Given the description of an element on the screen output the (x, y) to click on. 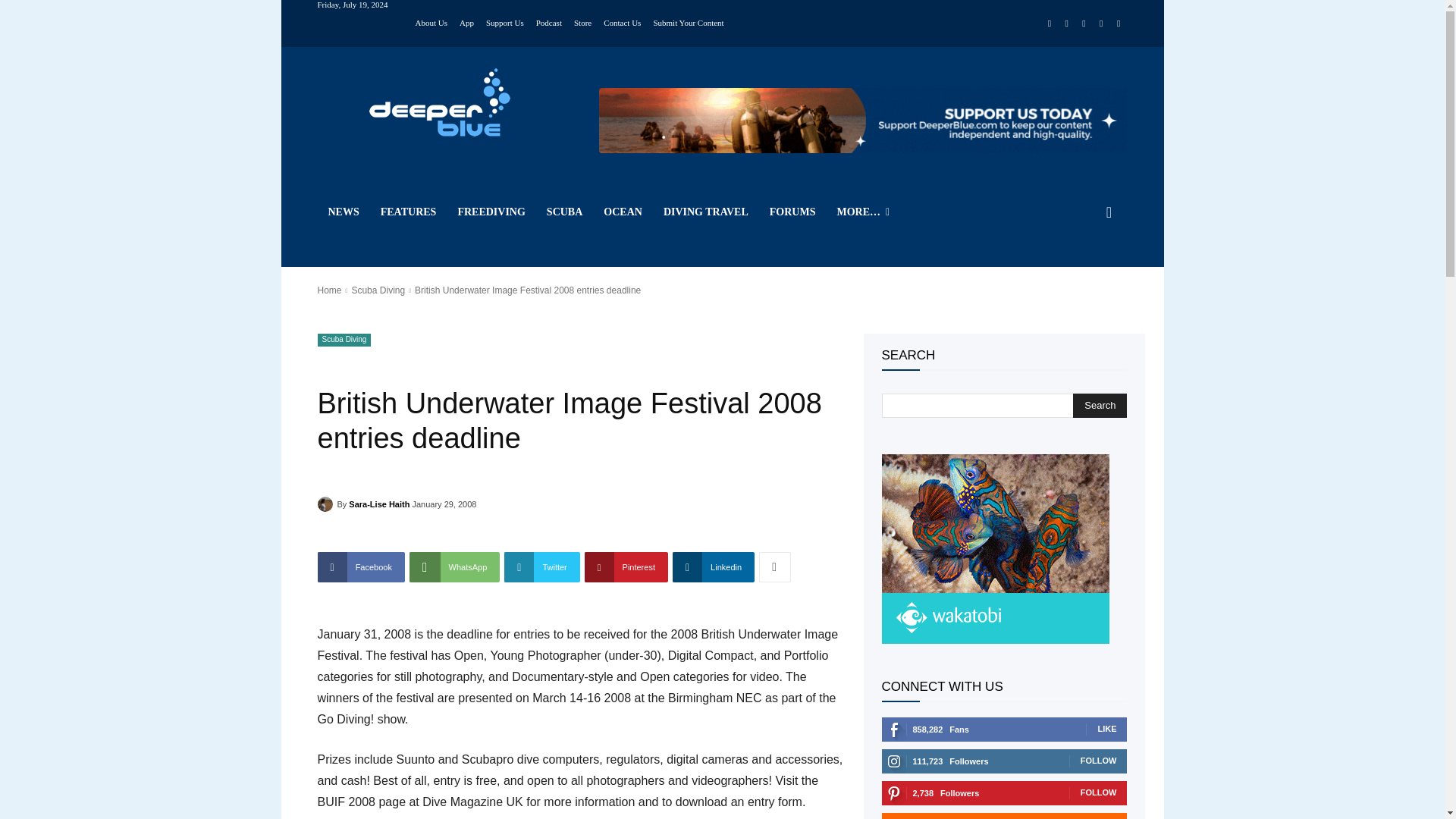
RSS (1084, 23)
About Us (430, 22)
Instagram (1066, 23)
Store (582, 22)
Contact Us (622, 22)
Podcast (548, 22)
Support Us (505, 22)
Facebook (1049, 23)
App (467, 22)
